Given the description of an element on the screen output the (x, y) to click on. 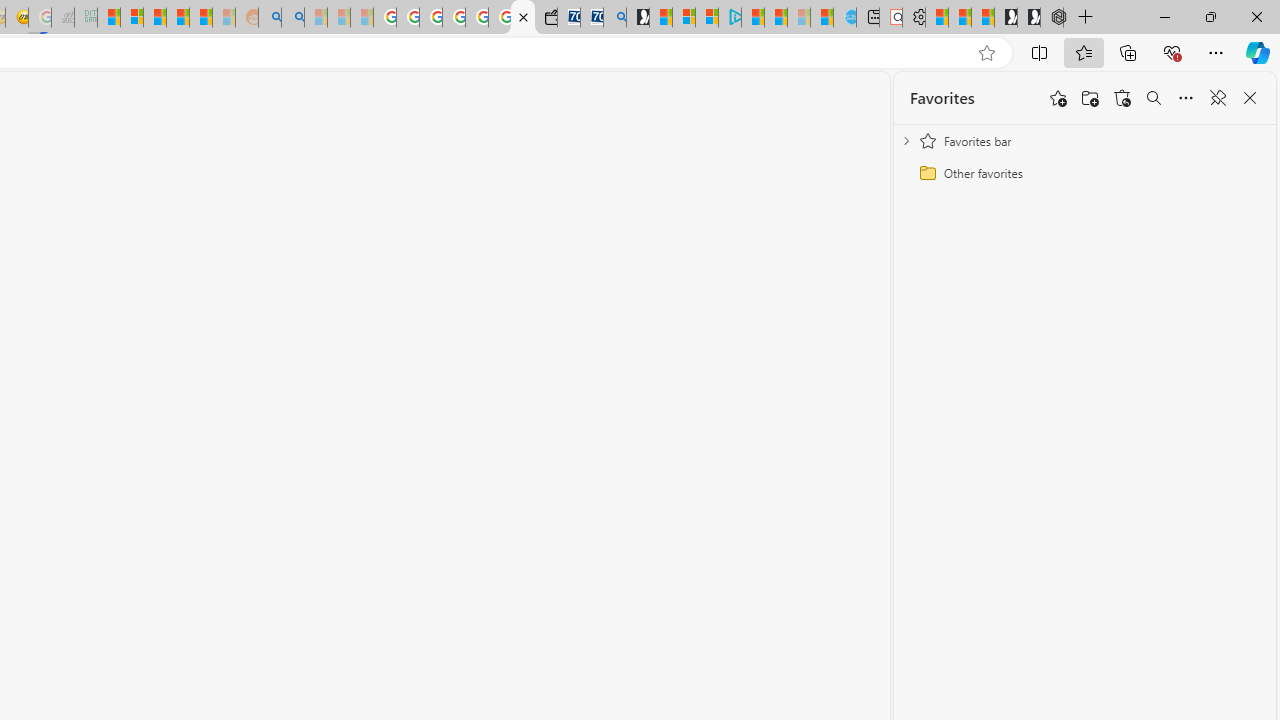
Bing Real Estate - Home sales and rental listings (614, 17)
Play Free Online Games | Games from Microsoft Start (1028, 17)
DITOGAMES AG Imprint - Sleeping (86, 17)
Search favorites (1153, 98)
